Given the description of an element on the screen output the (x, y) to click on. 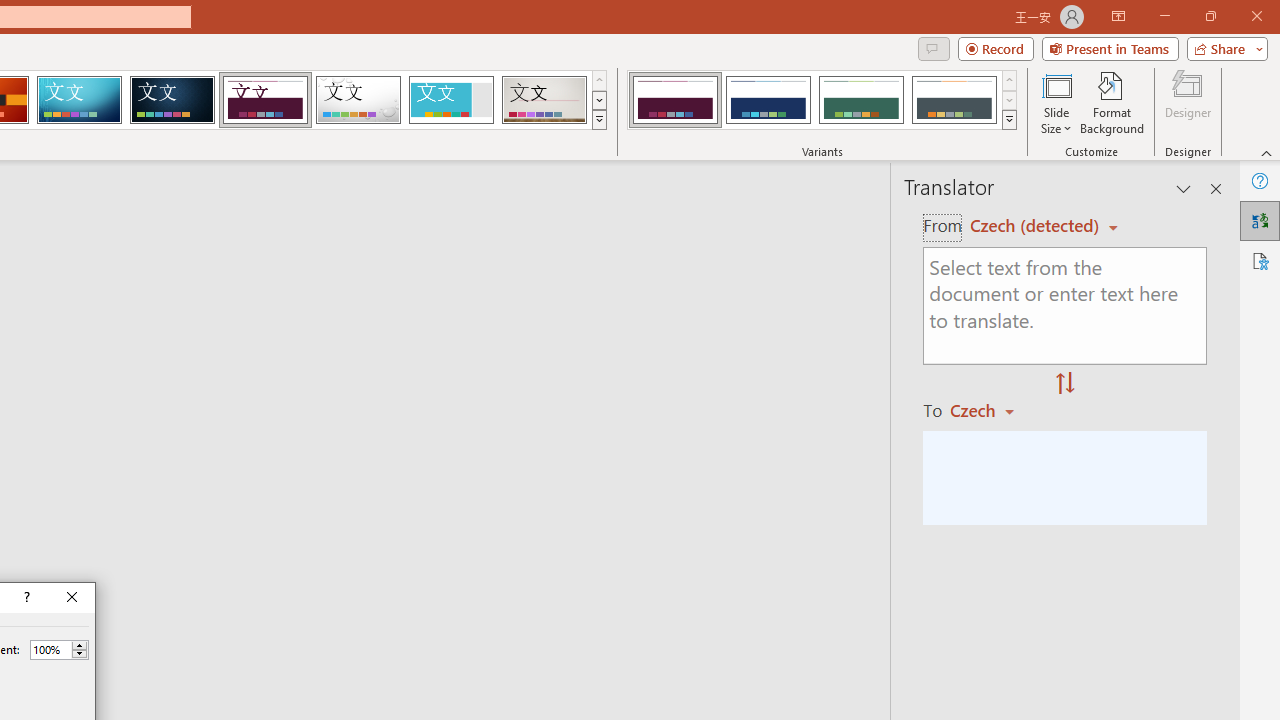
More (79, 645)
Translator (1260, 220)
Themes (598, 120)
Czech (detected) (1037, 225)
Accessibility (1260, 260)
Task Pane Options (1183, 188)
AutomationID: ThemeVariantsGallery (822, 99)
Gallery (544, 100)
Present in Teams (1109, 48)
Dividend (265, 100)
Context help (25, 597)
Dividend Variant 3 (861, 100)
Swap "from" and "to" languages. (1065, 383)
Circuit (79, 100)
Share (1223, 48)
